Given the description of an element on the screen output the (x, y) to click on. 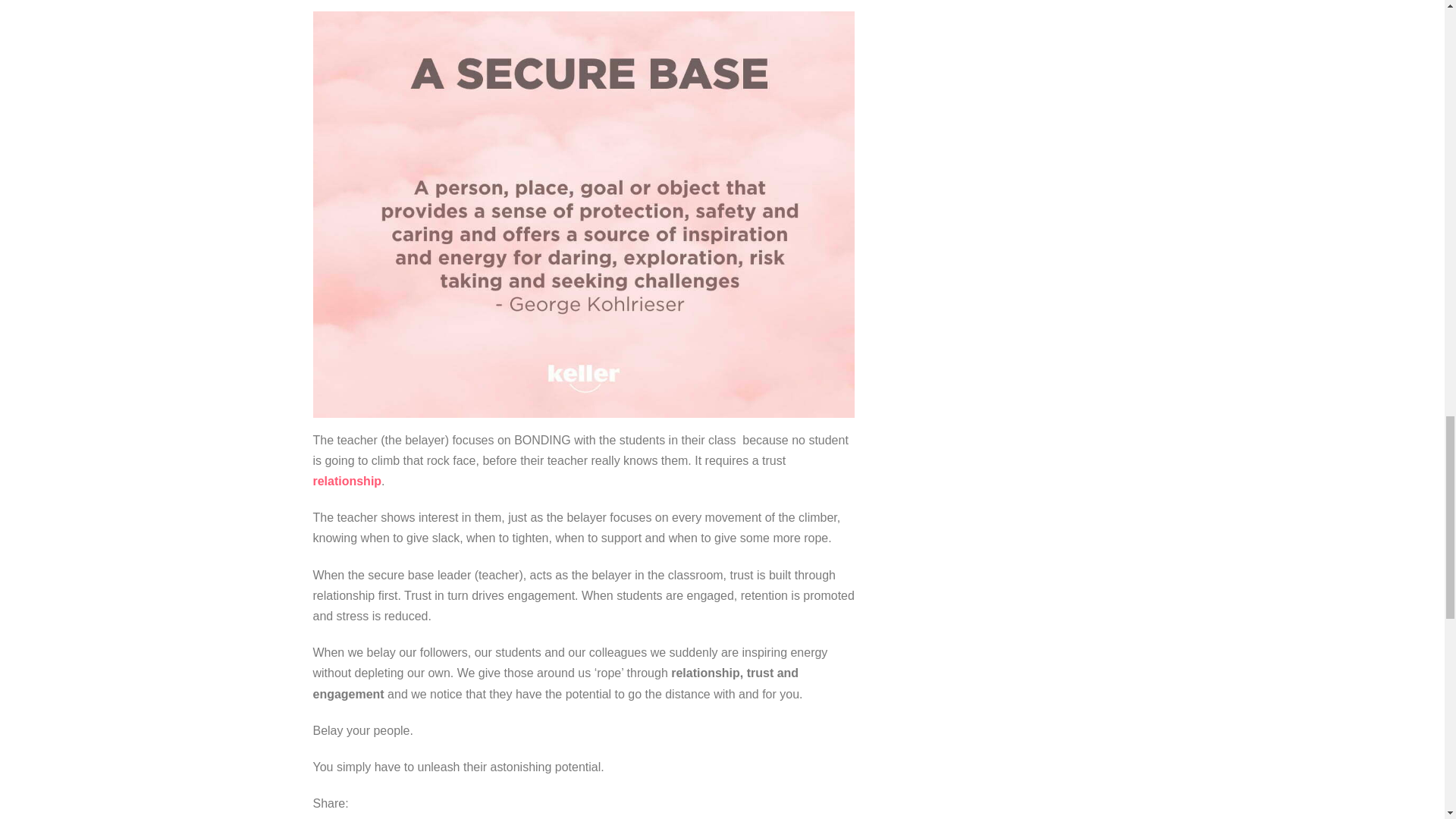
relationship (347, 481)
